Given the description of an element on the screen output the (x, y) to click on. 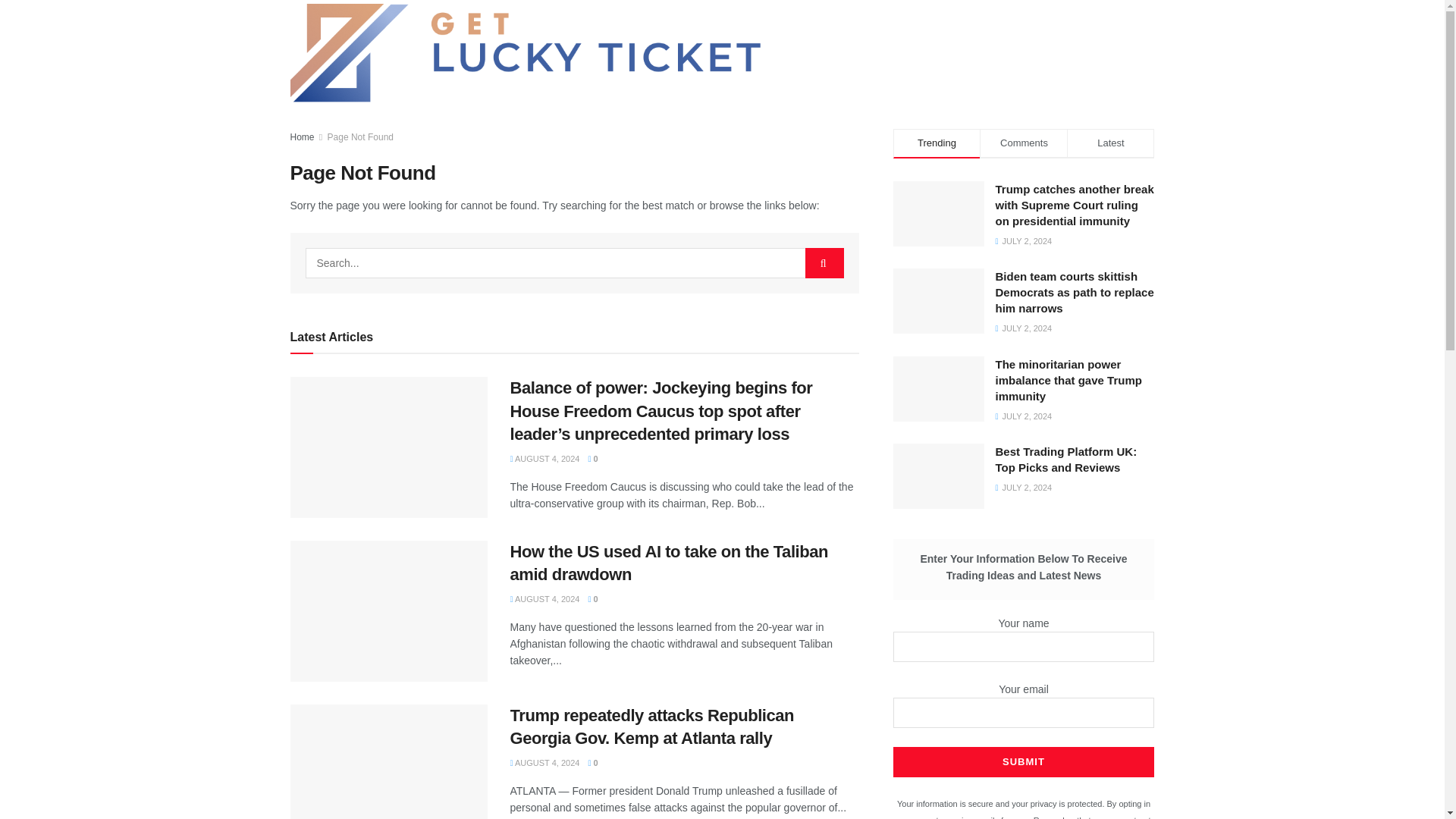
0 (592, 762)
Page Not Found (360, 136)
0 (592, 598)
0 (592, 458)
Home (301, 136)
How the US used AI to take on the Taliban amid drawdown (668, 563)
AUGUST 4, 2024 (544, 598)
AUGUST 4, 2024 (544, 762)
Submit (1023, 761)
AUGUST 4, 2024 (544, 458)
